Given the description of an element on the screen output the (x, y) to click on. 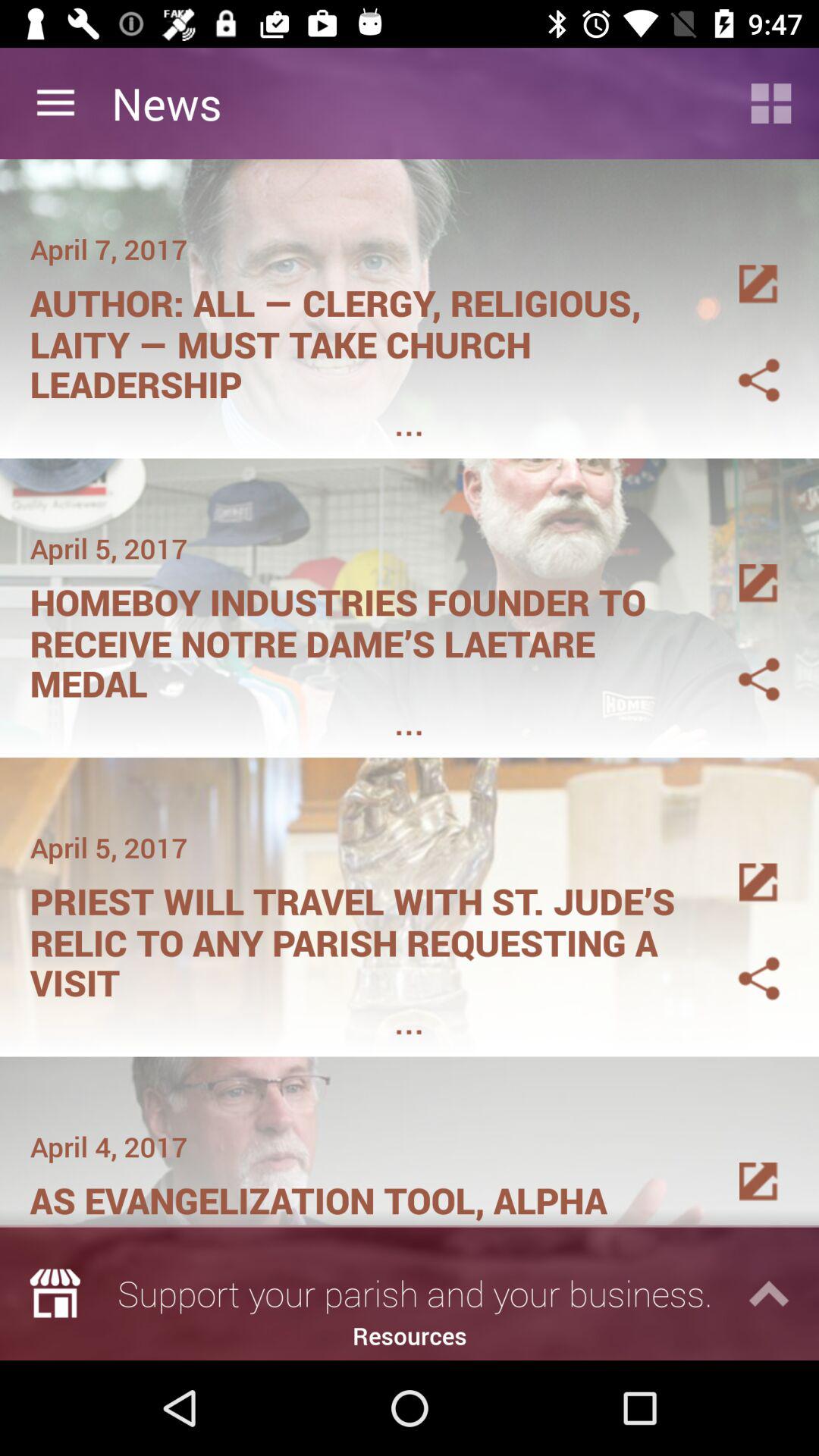
opens the article (740, 266)
